Given the description of an element on the screen output the (x, y) to click on. 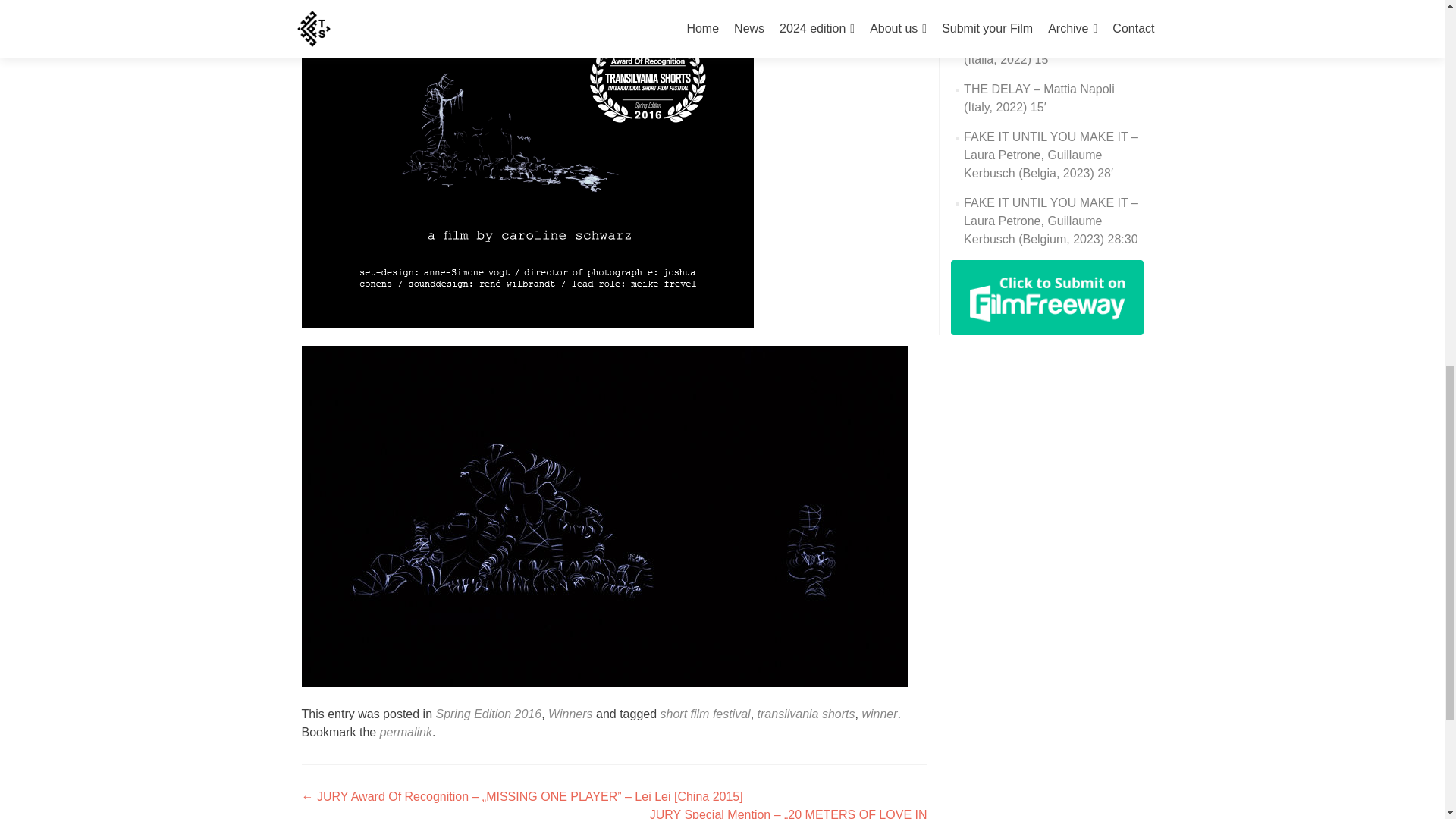
Click to submit with FilmFreeway (1046, 295)
Click to submit with FilmFreeway (1046, 297)
